Given the description of an element on the screen output the (x, y) to click on. 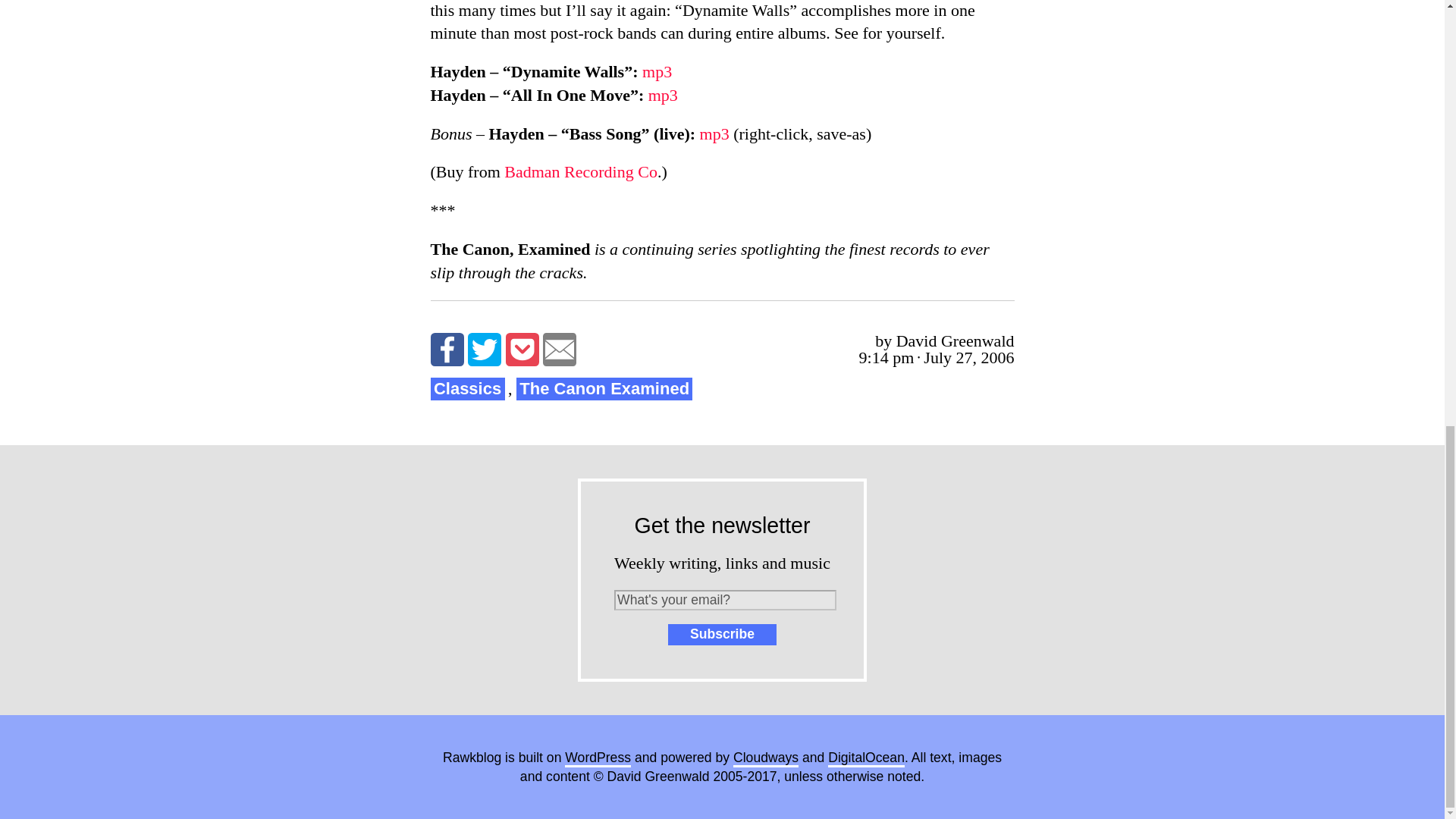
Classics (467, 389)
DigitalOcean (866, 758)
Email to a friend (559, 349)
What's your email? (724, 599)
Subscribe (722, 634)
Share on Twitter (483, 349)
Save to Pocket (521, 349)
Cloudways (765, 758)
The Canon Examined (604, 389)
Badman Recording Co (580, 171)
